Given the description of an element on the screen output the (x, y) to click on. 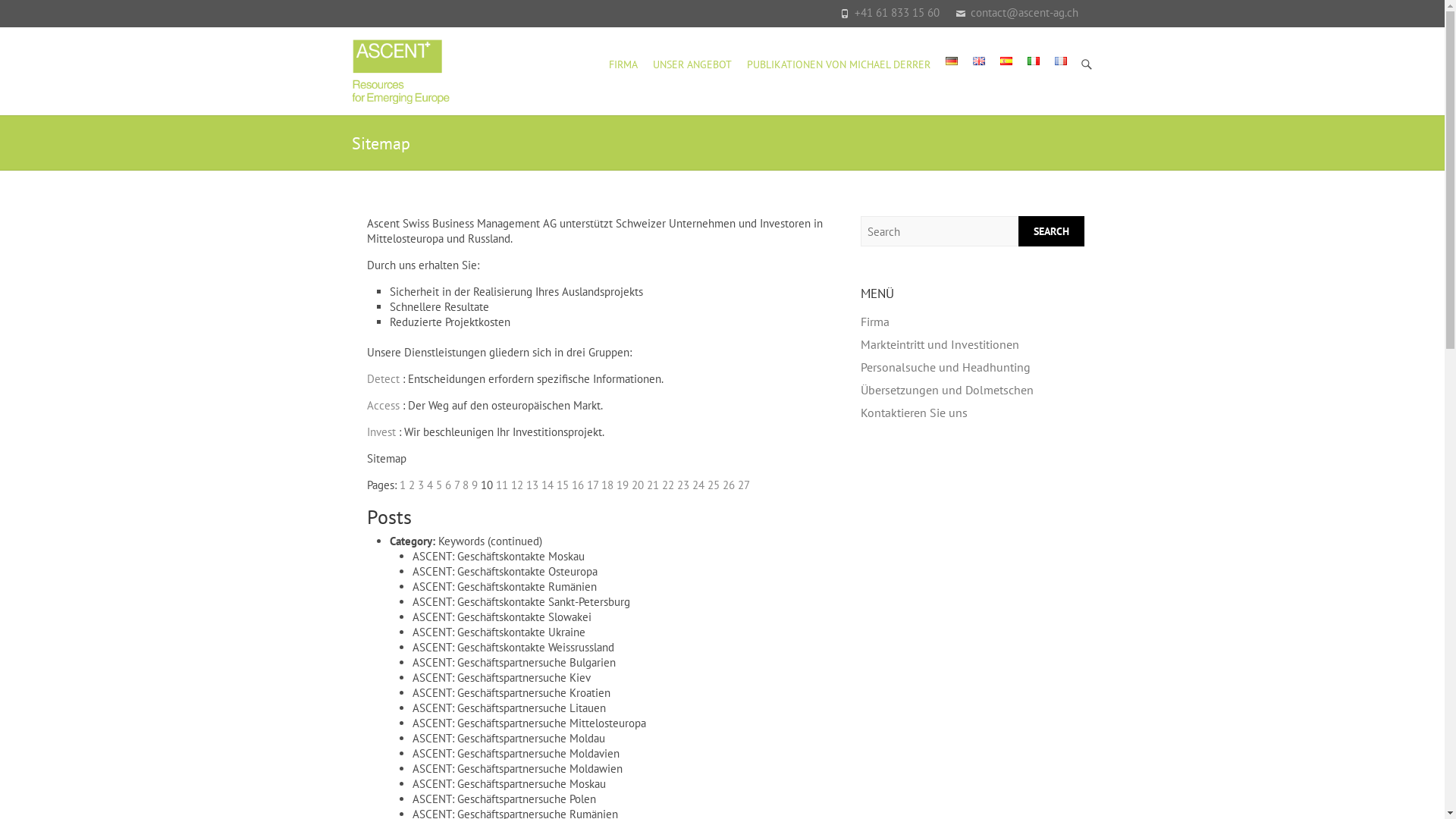
Keywords Element type: text (461, 540)
Search Element type: text (1051, 231)
18 Element type: text (606, 484)
3 Element type: text (420, 484)
Access Element type: text (383, 405)
16 Element type: text (577, 484)
Kontaktieren Sie uns Element type: text (913, 412)
25 Element type: text (712, 484)
Personalsuche und Headhunting Element type: text (945, 366)
12 Element type: text (517, 484)
22 Element type: text (667, 484)
Ascent Swiss Business Management AG Element type: hover (400, 70)
6 Element type: text (447, 484)
Deutsch Element type: hover (950, 60)
11 Element type: text (501, 484)
8 Element type: text (465, 484)
14 Element type: text (547, 484)
24 Element type: text (697, 484)
20 Element type: text (636, 484)
17 Element type: text (592, 484)
Invest Element type: text (381, 431)
7 Element type: text (455, 484)
1 Element type: text (401, 484)
4 Element type: text (429, 484)
Italiano Element type: hover (1032, 60)
19 Element type: text (621, 484)
9 Element type: text (474, 484)
27 Element type: text (743, 484)
26 Element type: text (727, 484)
2 Element type: text (410, 484)
Markteintritt und Investitionen Element type: text (939, 343)
15 Element type: text (562, 484)
FIRMA Element type: text (622, 65)
+41 61 833 15 60 Element type: text (895, 12)
UNSER ANGEBOT Element type: text (691, 65)
21 Element type: text (652, 484)
PUBLIKATIONEN VON MICHAEL DERRER Element type: text (837, 65)
13 Element type: text (532, 484)
Firma Element type: text (874, 321)
5 Element type: text (438, 484)
contact@ascent-ag.ch Element type: text (1024, 12)
23 Element type: text (682, 484)
English Element type: hover (978, 60)
Detect Element type: text (383, 378)
